Given the description of an element on the screen output the (x, y) to click on. 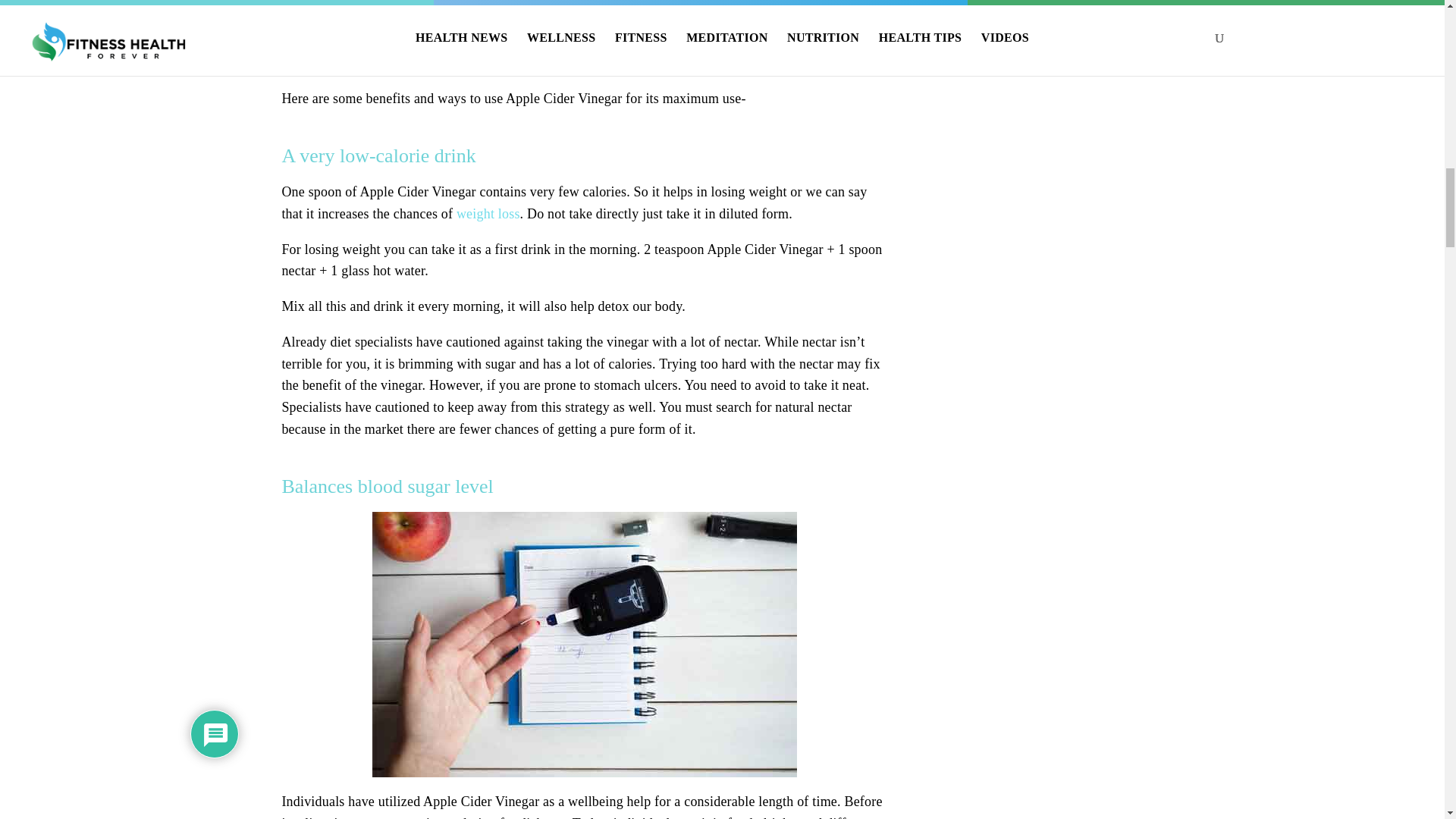
weight loss (488, 213)
